Given the description of an element on the screen output the (x, y) to click on. 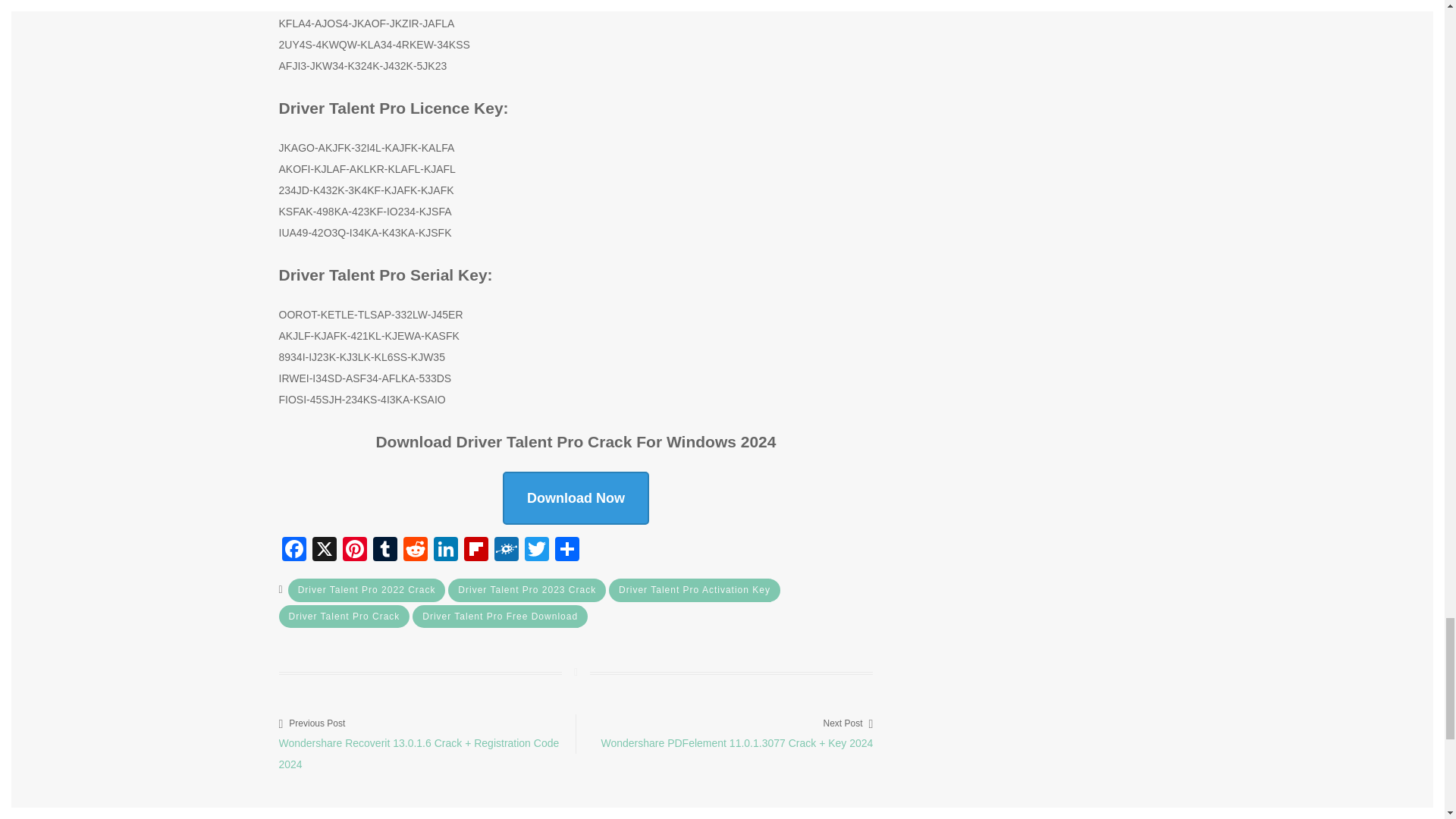
Pinterest (354, 551)
Reddit (415, 551)
LinkedIn (445, 551)
Flipboard (476, 551)
Folkd (506, 551)
Twitter (536, 551)
Tumblr (384, 551)
Facebook (293, 551)
X (323, 551)
